Given the description of an element on the screen output the (x, y) to click on. 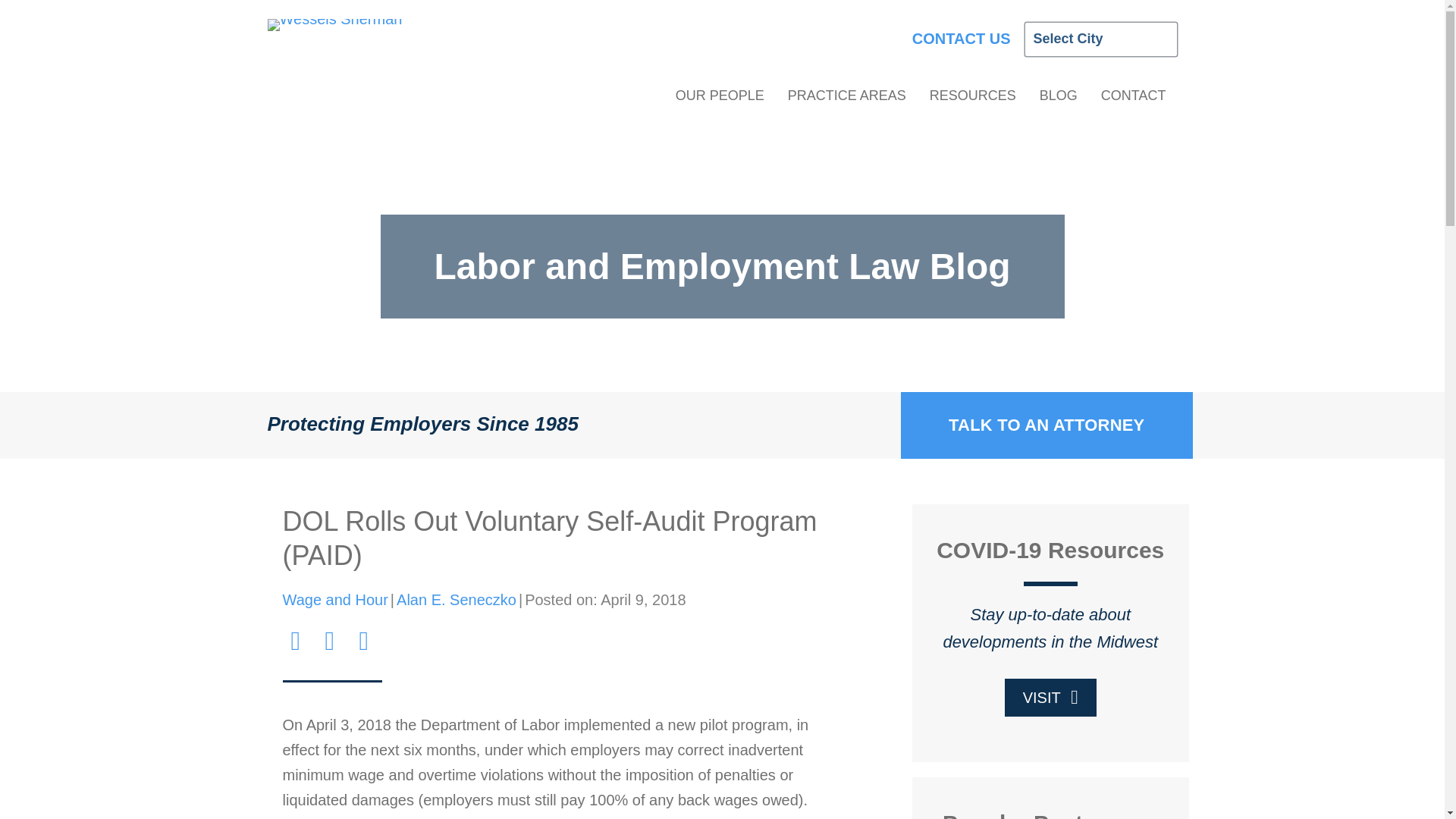
PRACTICE AREAS (846, 100)
Wessels Sherman (333, 24)
Alan E. Seneczko (456, 599)
CONTACT US (969, 38)
VISIT (1050, 697)
RESOURCES (972, 100)
TALK TO AN ATTORNEY (1046, 425)
BLOG (1058, 100)
OUR PEOPLE (719, 100)
CONTACT (1133, 100)
